Given the description of an element on the screen output the (x, y) to click on. 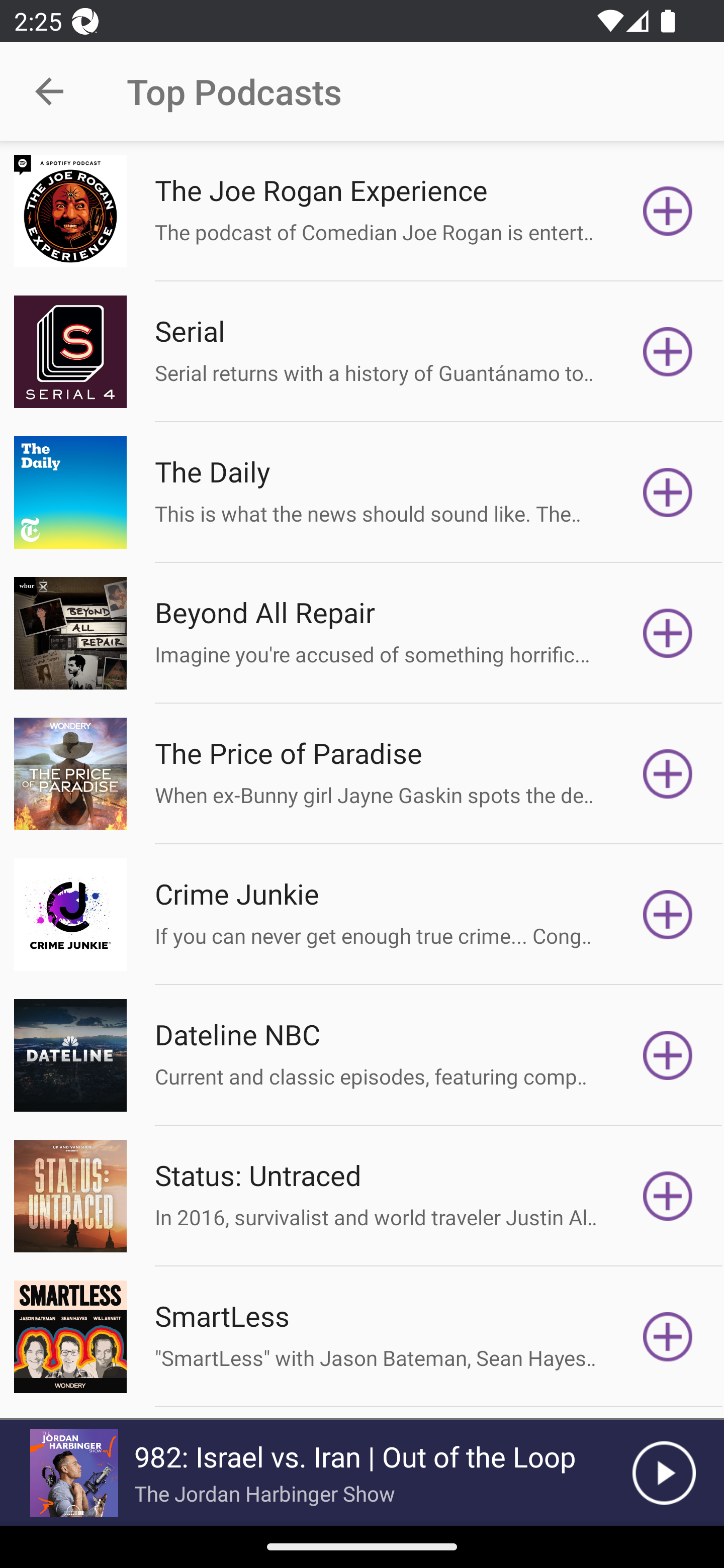
Navigate up (49, 91)
Subscribe (667, 211)
Subscribe (667, 350)
Subscribe (667, 491)
Subscribe (667, 633)
Subscribe (667, 773)
Subscribe (667, 913)
Subscribe (667, 1054)
Subscribe (667, 1195)
Subscribe (667, 1336)
Play (663, 1472)
